Given the description of an element on the screen output the (x, y) to click on. 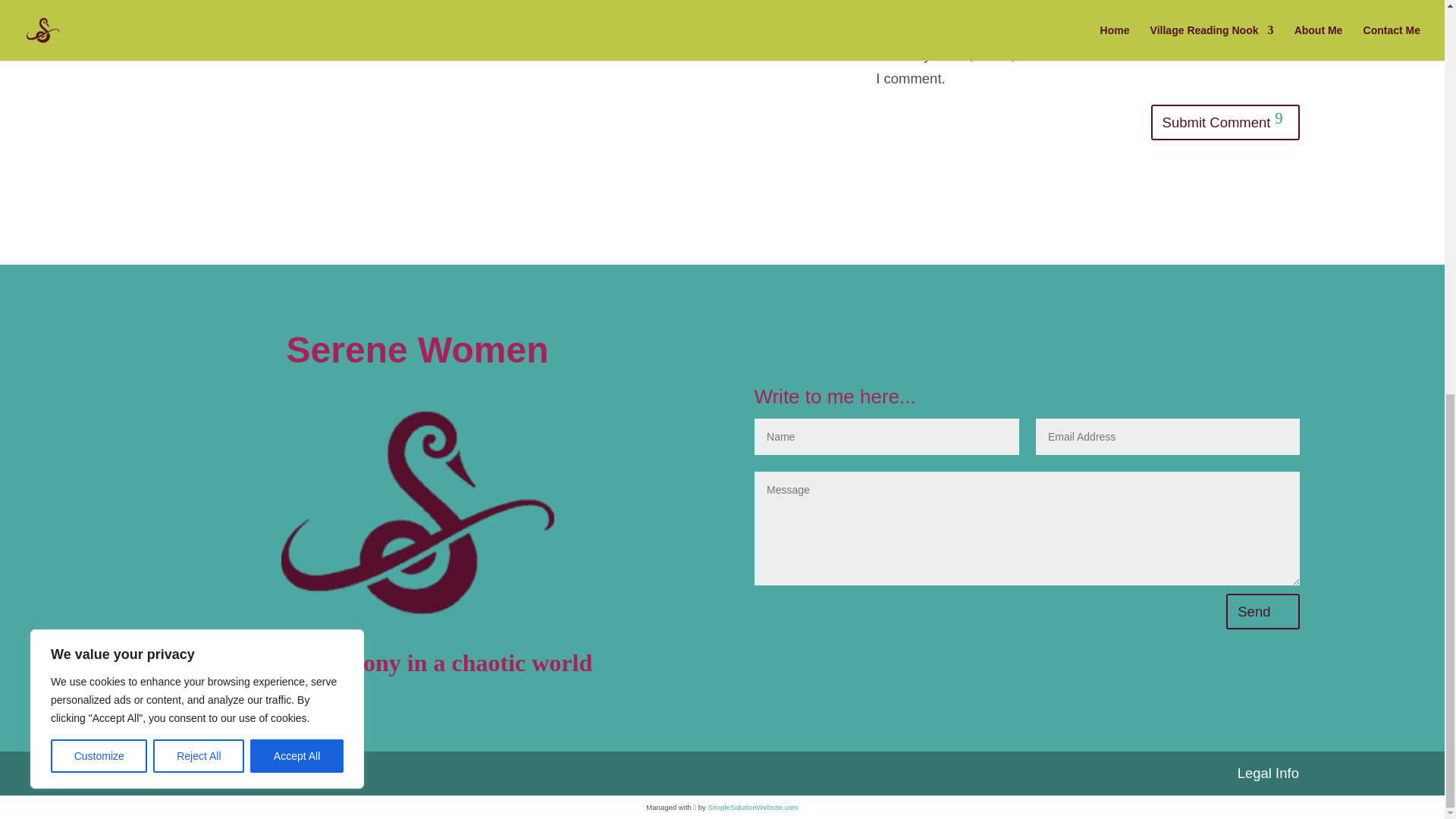
my-logo-lg (417, 512)
yes (1091, 30)
Reject All (198, 6)
Accept All (296, 6)
Customize (98, 6)
